Given the description of an element on the screen output the (x, y) to click on. 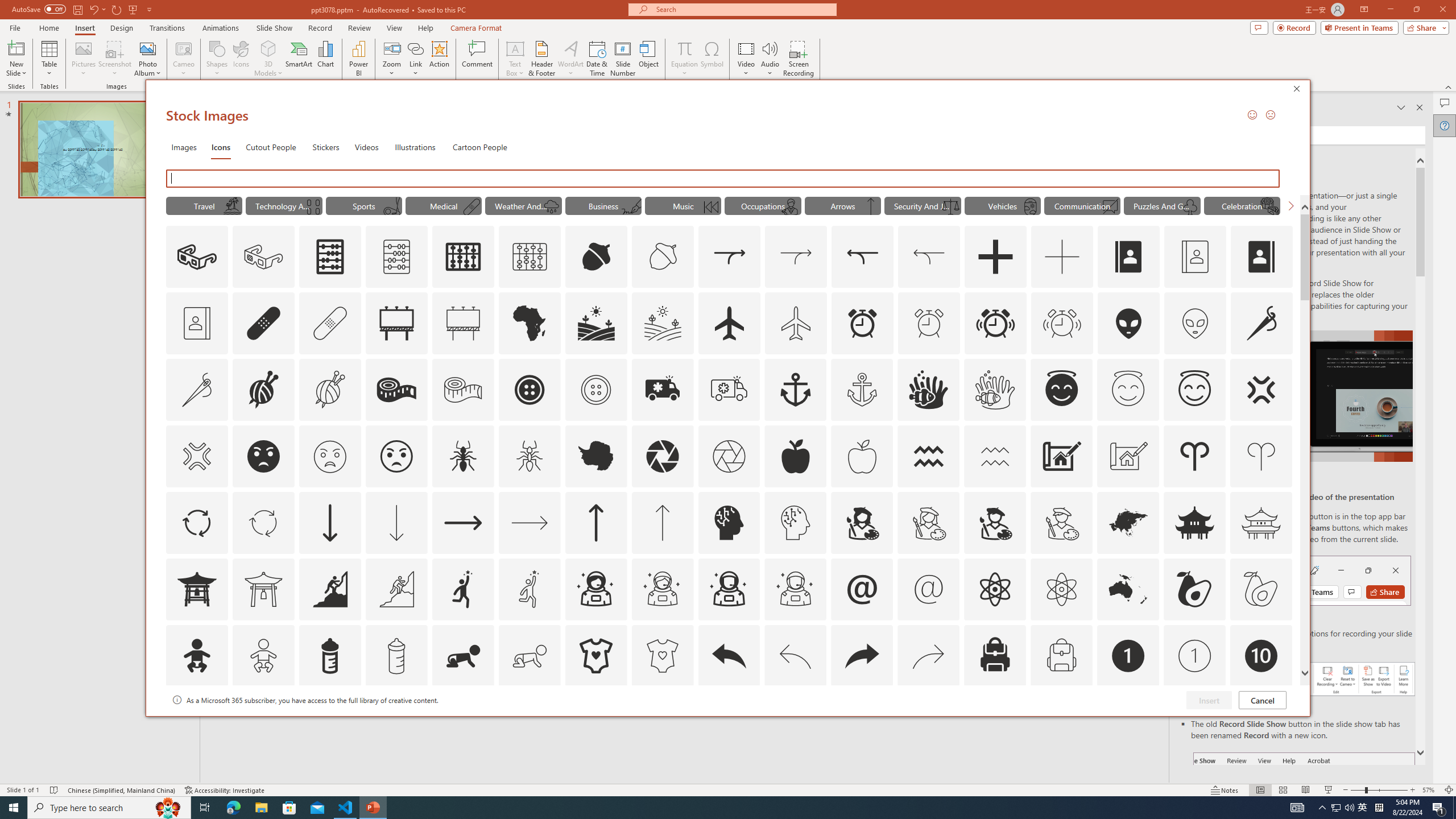
AutomationID: Icons_AngryFace_Outline (395, 455)
AutomationID: Icons_ArtistFemale (861, 522)
AutomationID: Icons_ArrowRight_M (529, 522)
AutomationID: Icons_At_M (928, 588)
AutomationID: Icons_AnemoneAndClownfish_M (995, 389)
AutomationID: Icons_ArrowDown (329, 522)
AutomationID: Icons_ArtistMale (995, 522)
AutomationID: Icons_Badge7 (928, 721)
AutomationID: Icons_JudgeMale_M (790, 206)
